Given the description of an element on the screen output the (x, y) to click on. 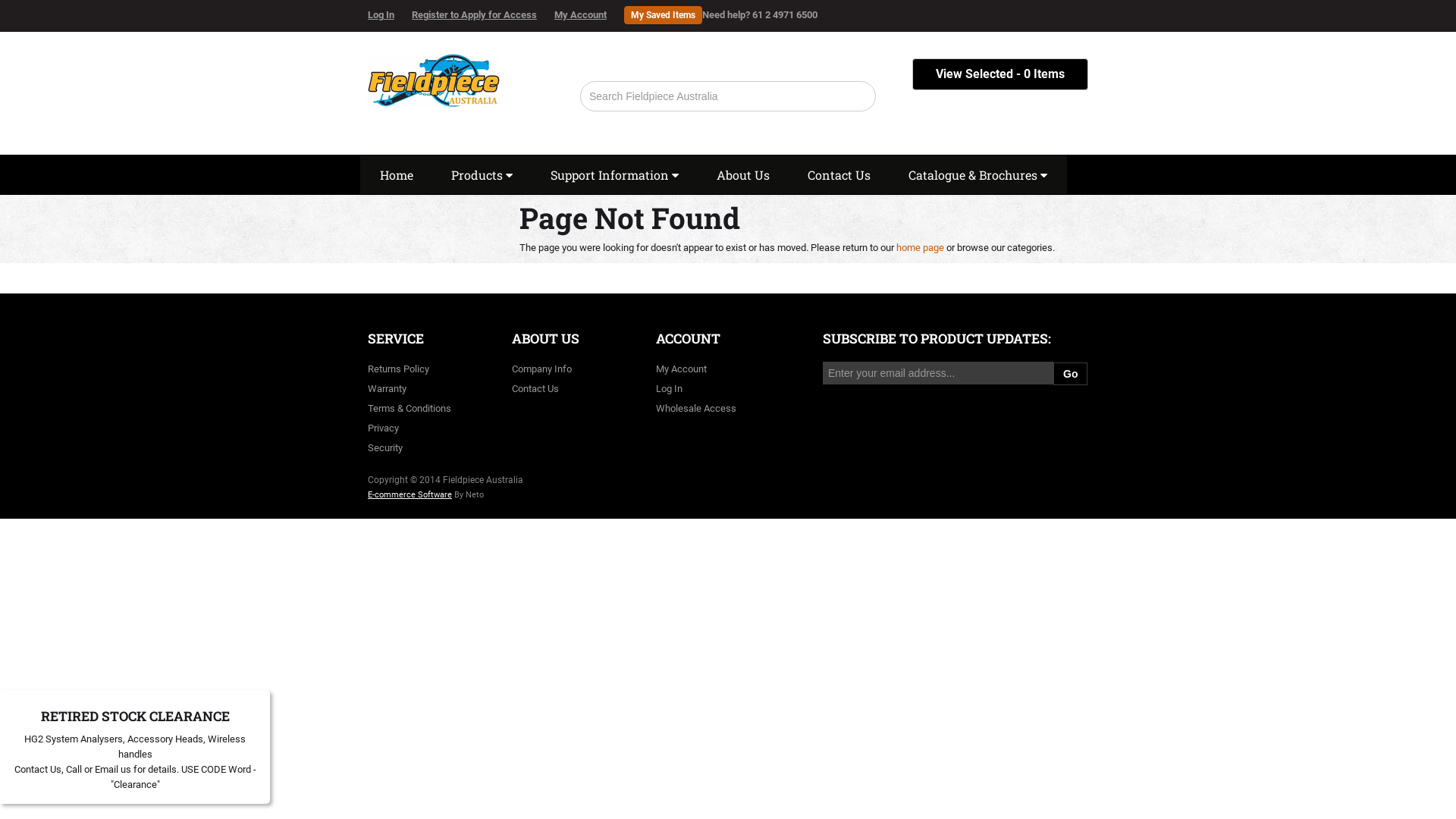
Search Element type: text (857, 95)
Log In Element type: text (388, 14)
Contact Us Element type: text (838, 174)
Returns Policy Element type: text (398, 368)
E-commerce Software Element type: text (409, 494)
My Saved Items Element type: text (663, 15)
Products Element type: text (481, 174)
FIELDPIECE AUSTRALIA Element type: hover (433, 75)
View Selected - 0 Items Element type: text (1000, 74)
About Us Element type: text (742, 174)
Terms & Conditions Element type: text (409, 408)
Go Element type: text (1070, 373)
My Account Element type: text (680, 368)
Register to Apply for Access Element type: text (481, 14)
Home Element type: text (396, 174)
Support Information Element type: text (614, 174)
Wholesale Access Element type: text (695, 408)
Warranty Element type: text (386, 388)
My Account Element type: text (587, 14)
Privacy Element type: text (382, 427)
Contact Us Element type: text (534, 388)
Catalogue & Brochures Element type: text (977, 174)
Company Info Element type: text (541, 368)
home page Element type: text (920, 247)
Security Element type: text (384, 447)
Log In Element type: text (668, 388)
